Given the description of an element on the screen output the (x, y) to click on. 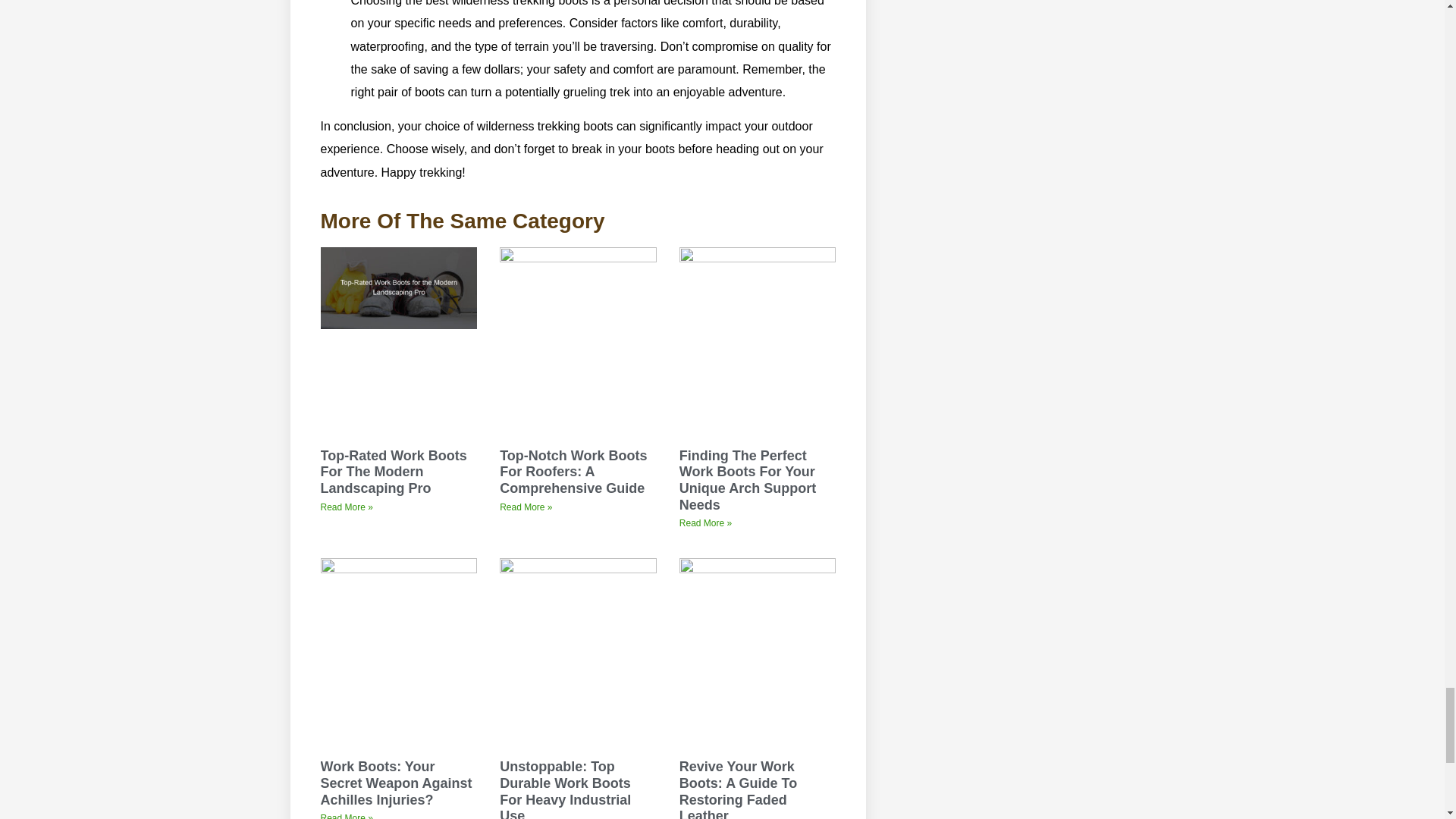
Top-Rated Work Boots For The Modern Landscaping Pro (392, 471)
Revive Your Work Boots: A Guide To Restoring Faded Leather (737, 789)
Work Boots: Your Secret Weapon Against Achilles Injuries? (395, 782)
Unstoppable: Top Durable Work Boots For Heavy Industrial Use (564, 789)
Top-Notch Work Boots For Roofers: A Comprehensive Guide (572, 471)
